Given the description of an element on the screen output the (x, y) to click on. 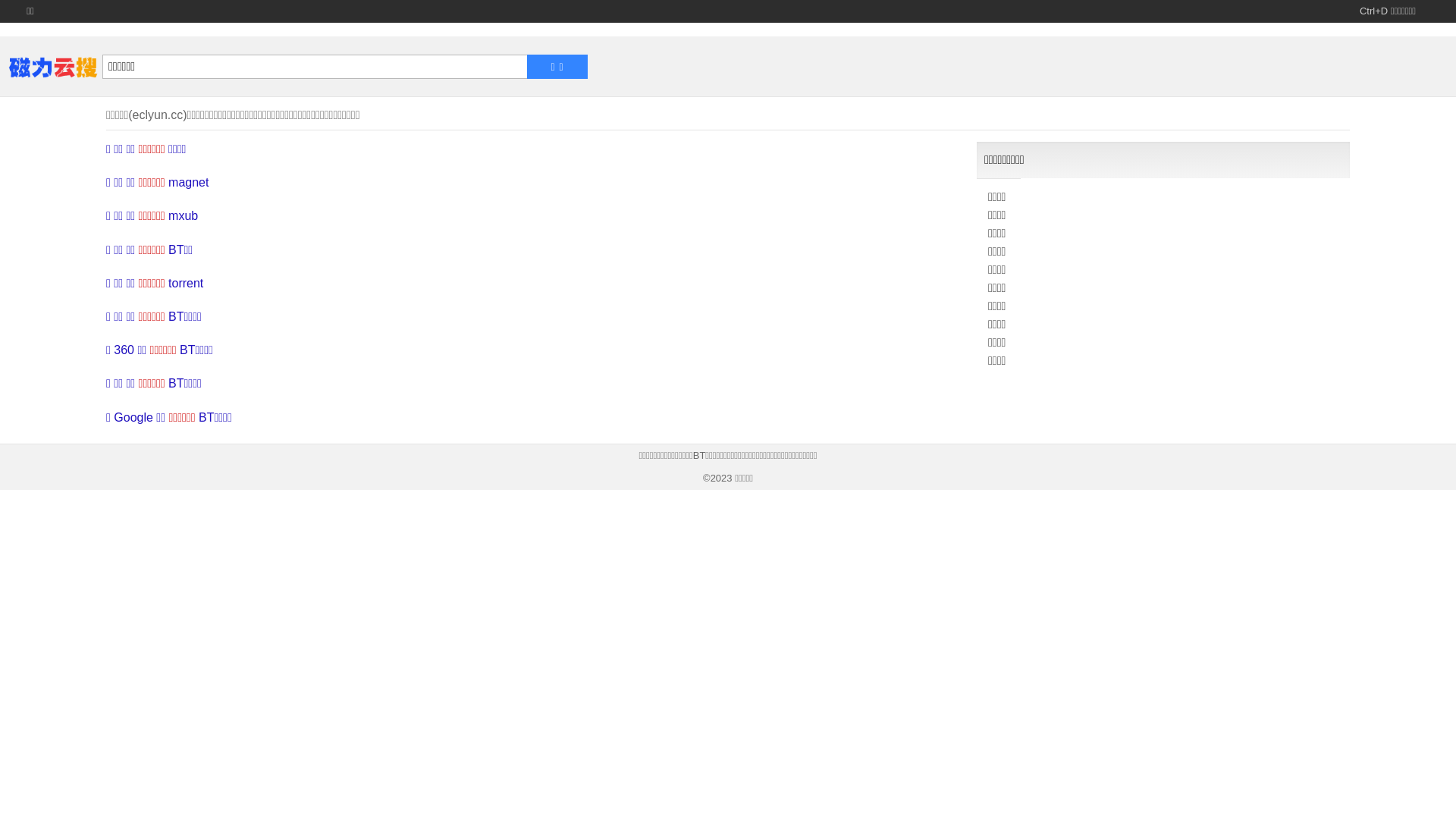
Search Element type: hover (316, 66)
